Given the description of an element on the screen output the (x, y) to click on. 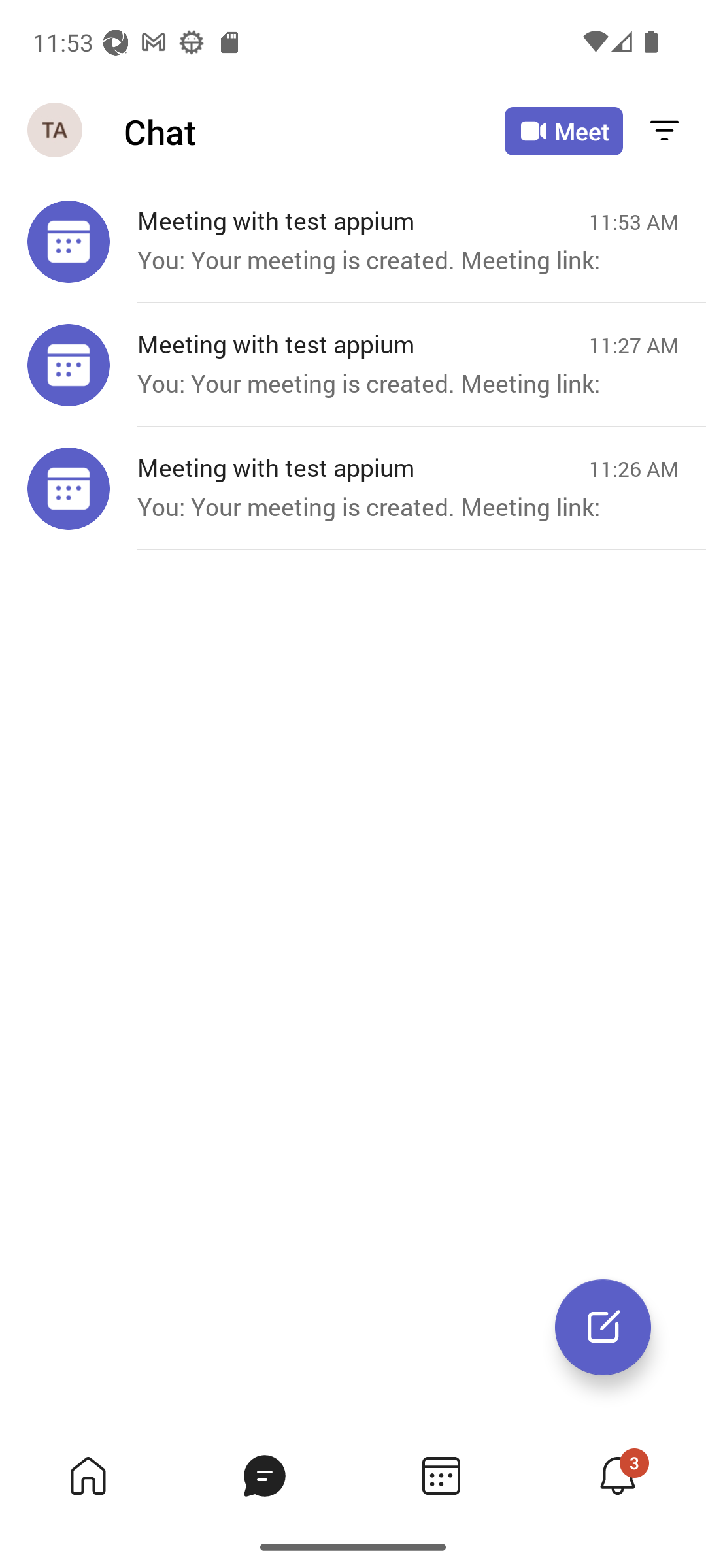
Filter chat messages (664, 131)
Navigation (56, 130)
Meet Meet now or join with an ID (563, 130)
New chat (602, 1327)
Home tab,1 of 4, not selected (88, 1475)
Chat tab, 2 of 4 (264, 1475)
Calendar tab,3 of 4, not selected (441, 1475)
Activity tab,4 of 4, not selected, 3 new 3 (617, 1475)
